Given the description of an element on the screen output the (x, y) to click on. 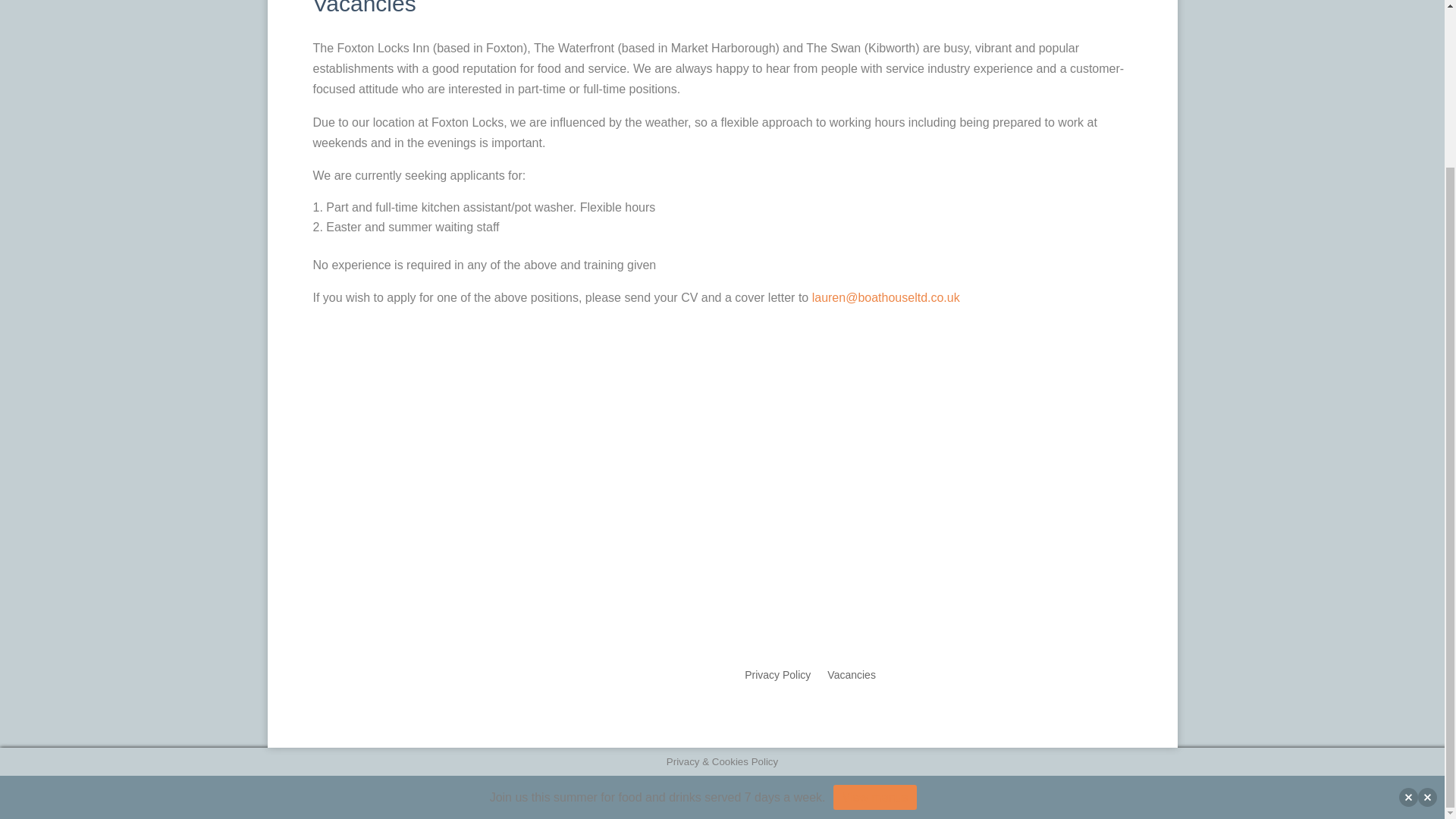
View menus (874, 796)
Vacancies (851, 677)
Ideal Marketing (500, 673)
Privacy Policy (777, 677)
